Given the description of an element on the screen output the (x, y) to click on. 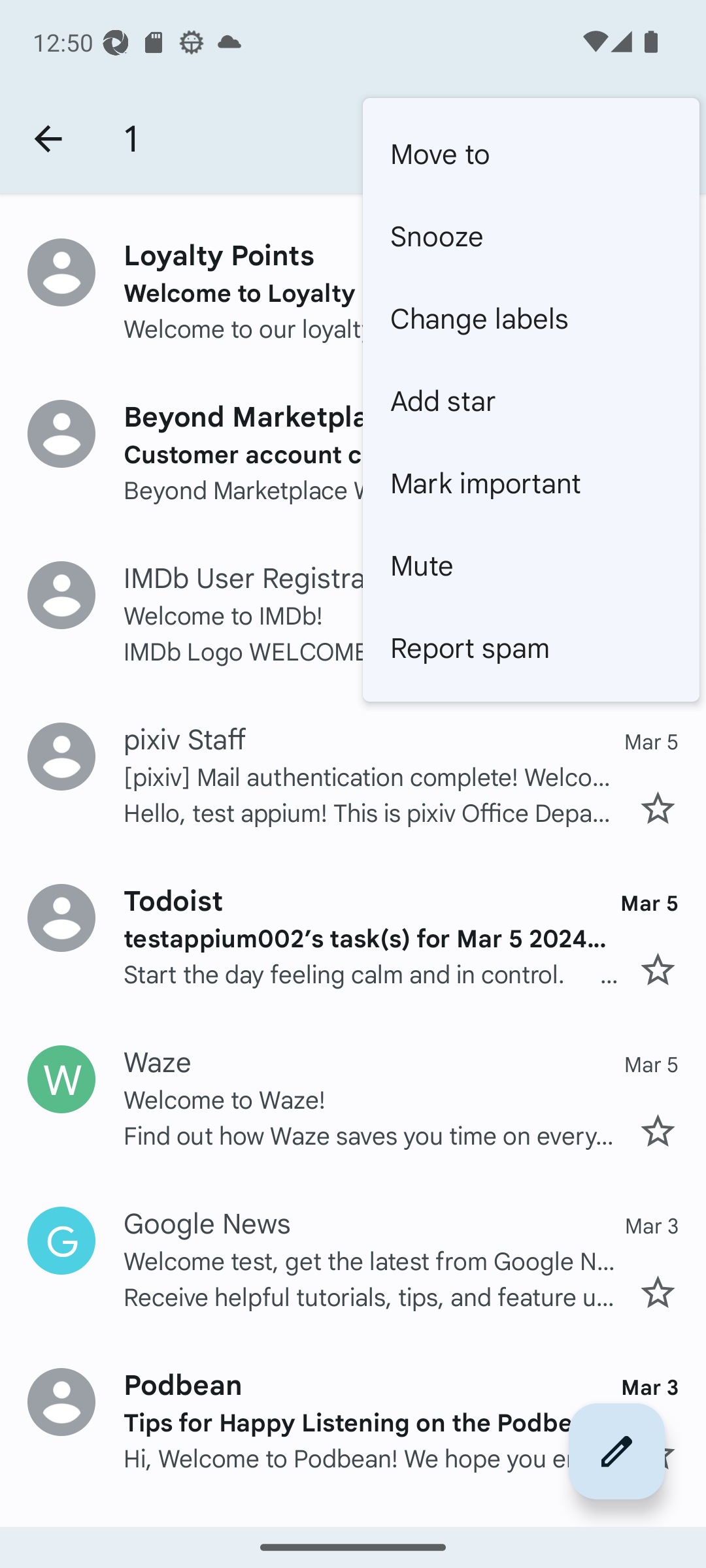
Move to (530, 152)
Snooze (530, 234)
Change labels (530, 317)
Add star (530, 399)
Mark important (530, 481)
Mute (530, 564)
Report spam (530, 646)
